Given the description of an element on the screen output the (x, y) to click on. 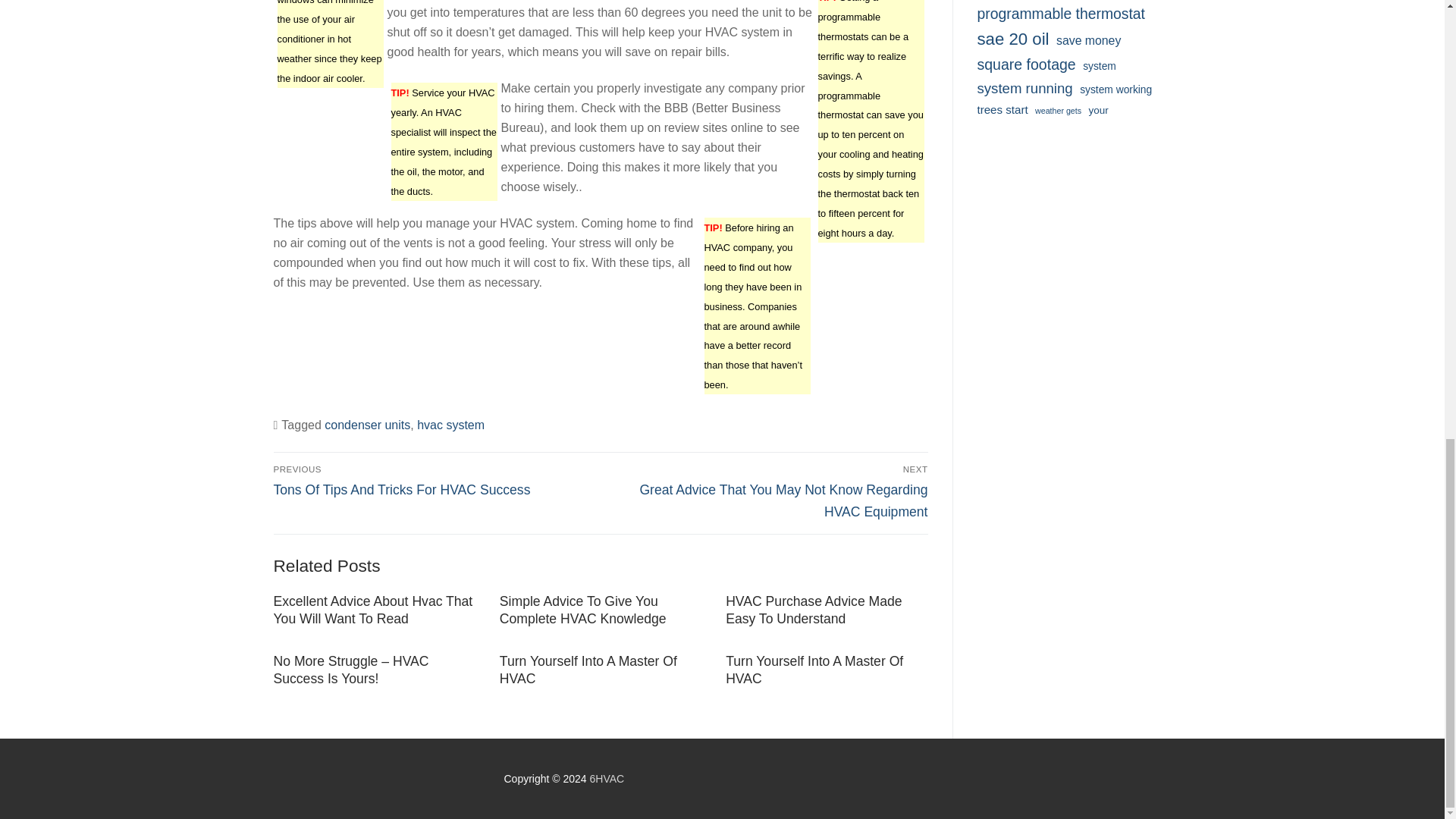
Excellent Advice About Hvac That You Will Want To Read (372, 609)
HVAC Purchase Advice Made Easy To Understand (813, 609)
HVAC Purchase Advice Made Easy To Understand (813, 609)
Turn Yourself Into A Master Of HVAC (588, 669)
condenser units (367, 424)
Simple Advice To Give You Complete HVAC Knowledge (582, 609)
Excellent Advice About Hvac That You Will Want To Read (372, 609)
Simple Advice To Give You Complete HVAC Knowledge (582, 609)
Turn Yourself Into A Master Of HVAC (813, 669)
Turn Yourself Into A Master Of HVAC (588, 669)
hvac system (450, 424)
